Given the description of an element on the screen output the (x, y) to click on. 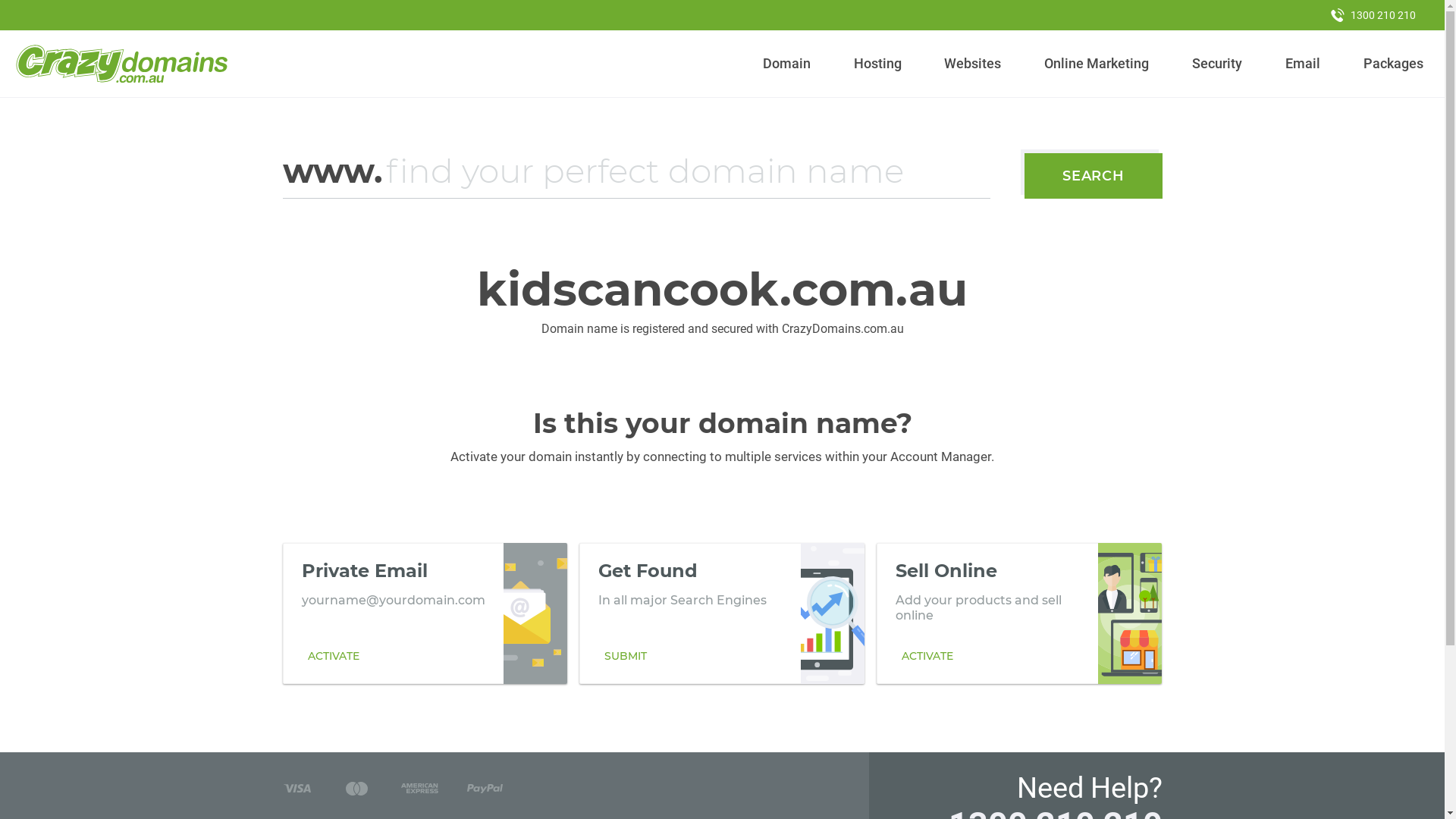
Packages Element type: text (1392, 63)
Online Marketing Element type: text (1096, 63)
Websites Element type: text (972, 63)
Hosting Element type: text (877, 63)
1300 210 210 Element type: text (1373, 15)
Private Email
yourname@yourdomain.com
ACTIVATE Element type: text (424, 613)
Domain Element type: text (786, 63)
Sell Online
Add your products and sell online
ACTIVATE Element type: text (1018, 613)
Get Found
In all major Search Engines
SUBMIT Element type: text (721, 613)
Email Element type: text (1302, 63)
Security Element type: text (1217, 63)
SEARCH Element type: text (1092, 175)
